Given the description of an element on the screen output the (x, y) to click on. 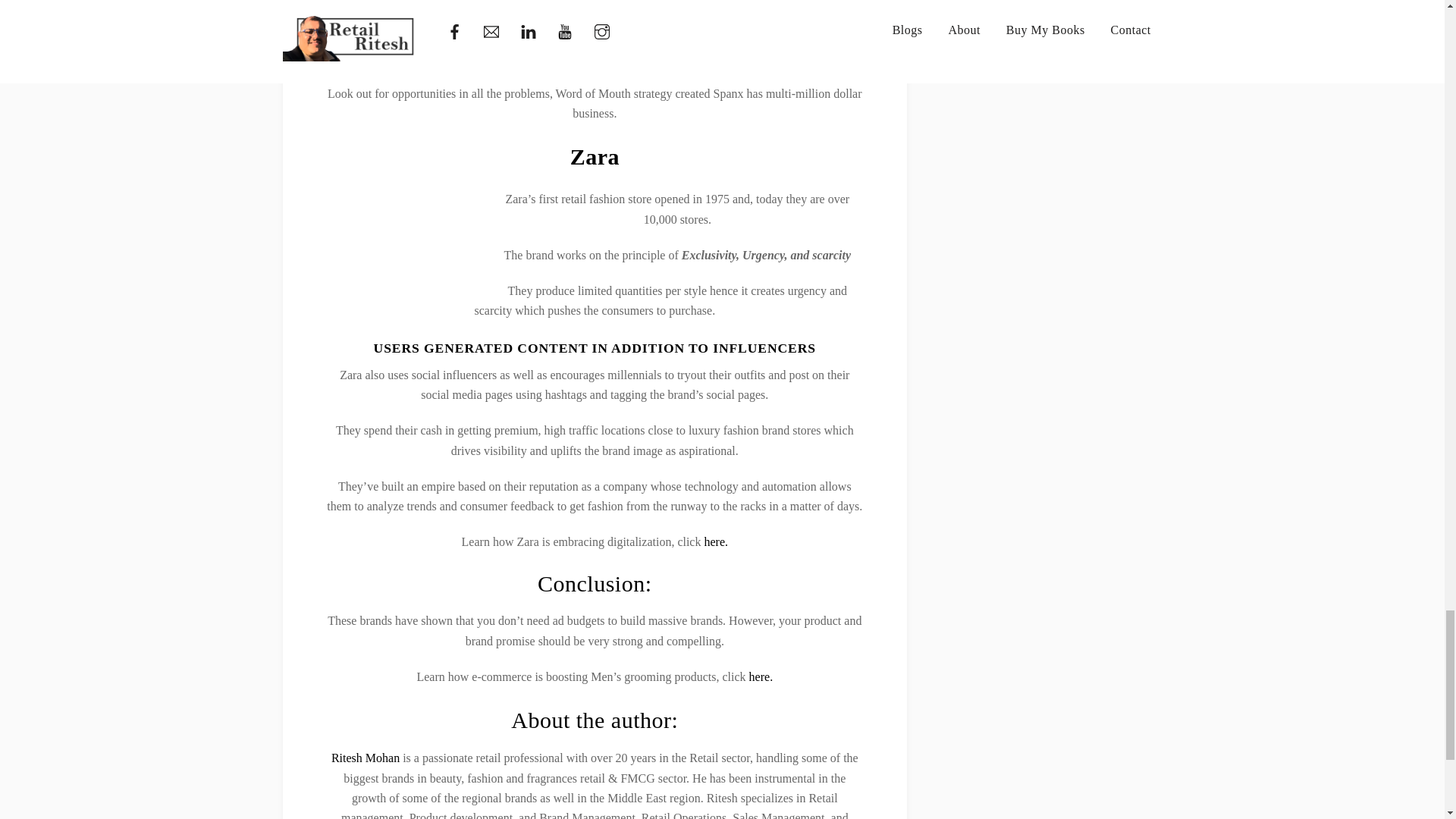
here. (761, 676)
Ritesh Mohan (364, 757)
here. (715, 541)
Zara (595, 156)
